Given the description of an element on the screen output the (x, y) to click on. 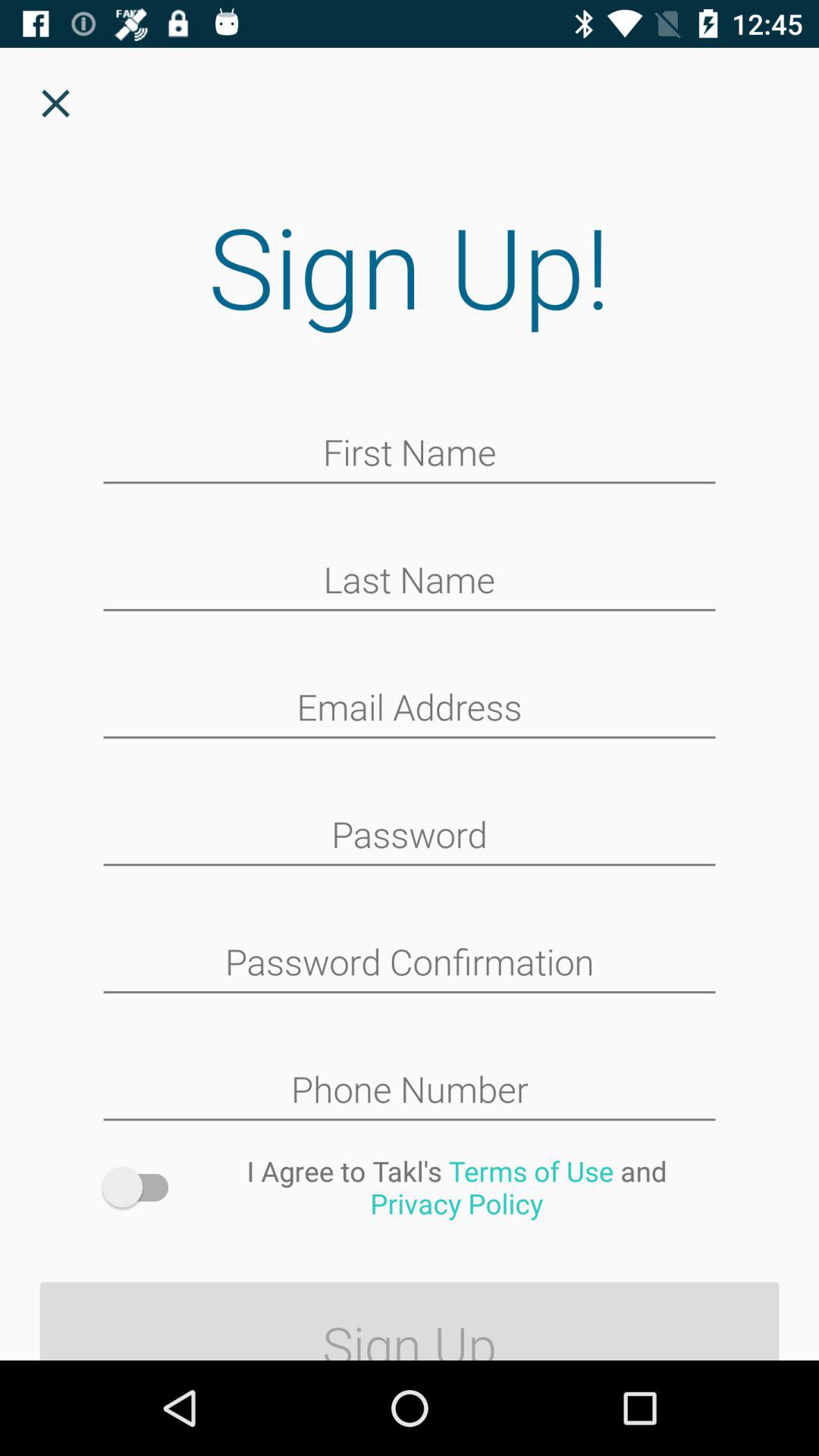
click icon next to the i agree to icon (142, 1187)
